Given the description of an element on the screen output the (x, y) to click on. 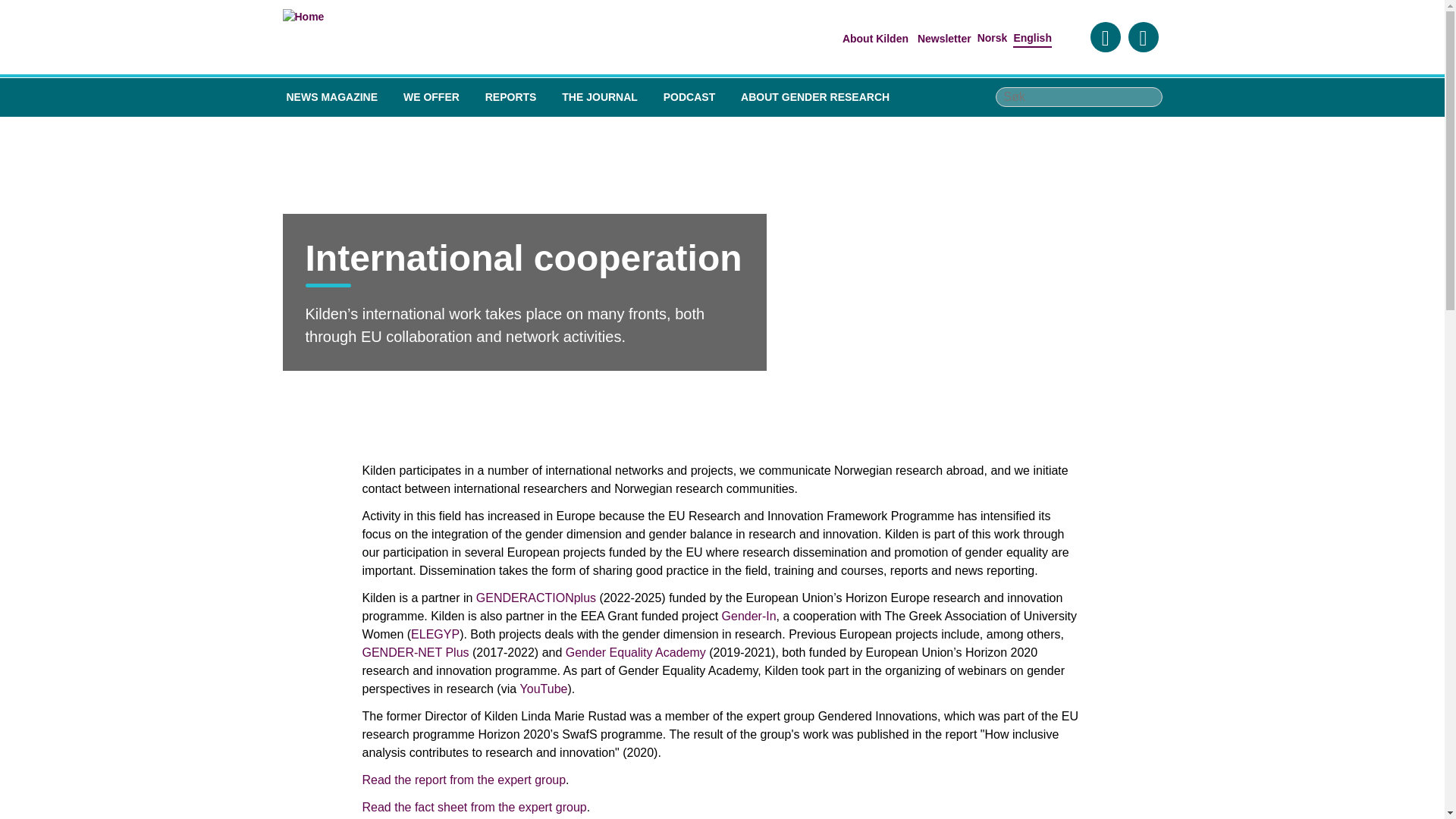
GENDERACTIONplus (535, 597)
NEWS MAGAZINE (331, 97)
THE JOURNAL (599, 97)
REPORTS (510, 97)
About Kilden (875, 38)
GENDER-NET Plus (415, 652)
ELEGYP (435, 634)
English (1032, 38)
Read the report from the expert group (464, 780)
